Given the description of an element on the screen output the (x, y) to click on. 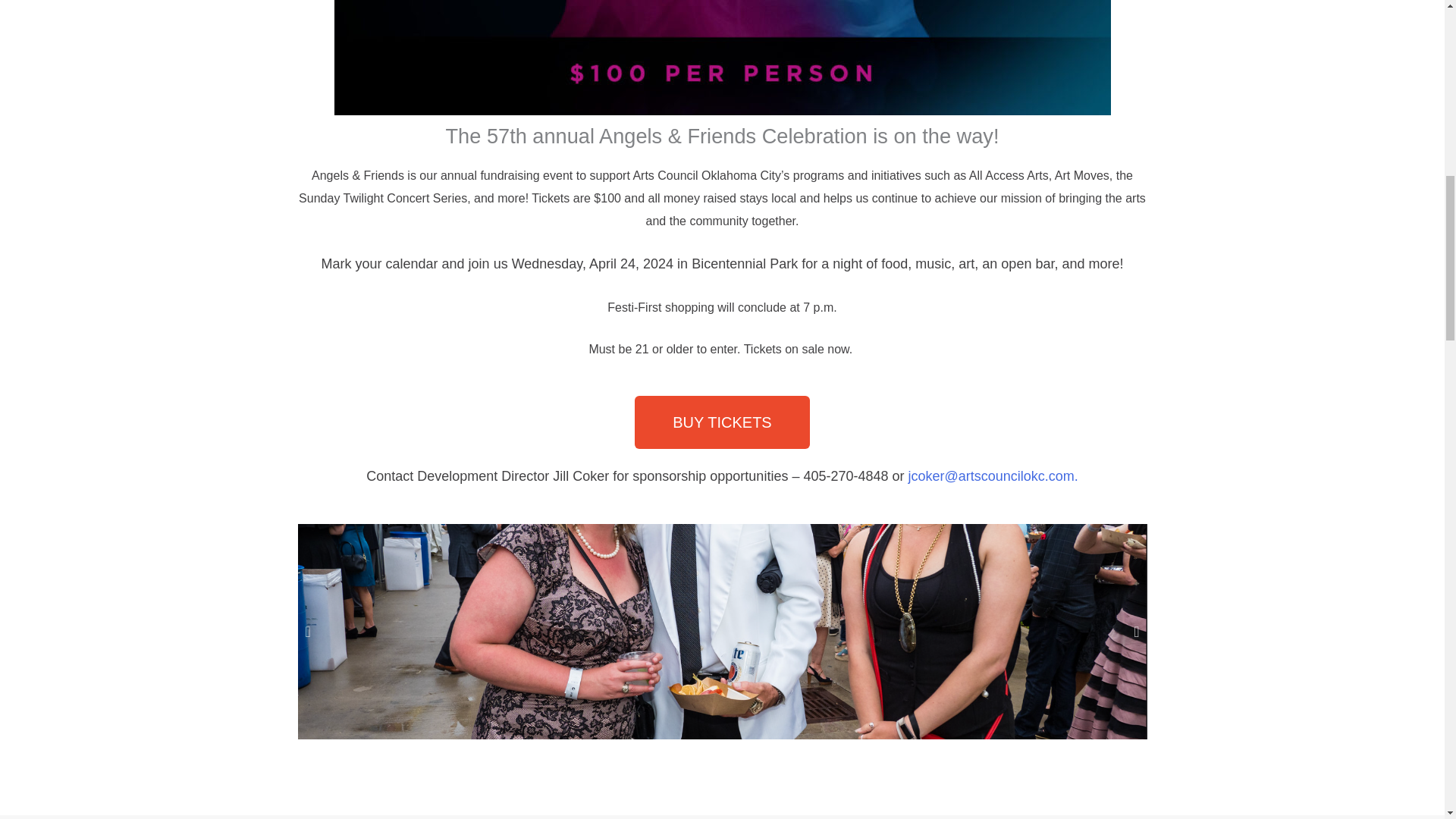
BUY TICKETS (721, 421)
